Given the description of an element on the screen output the (x, y) to click on. 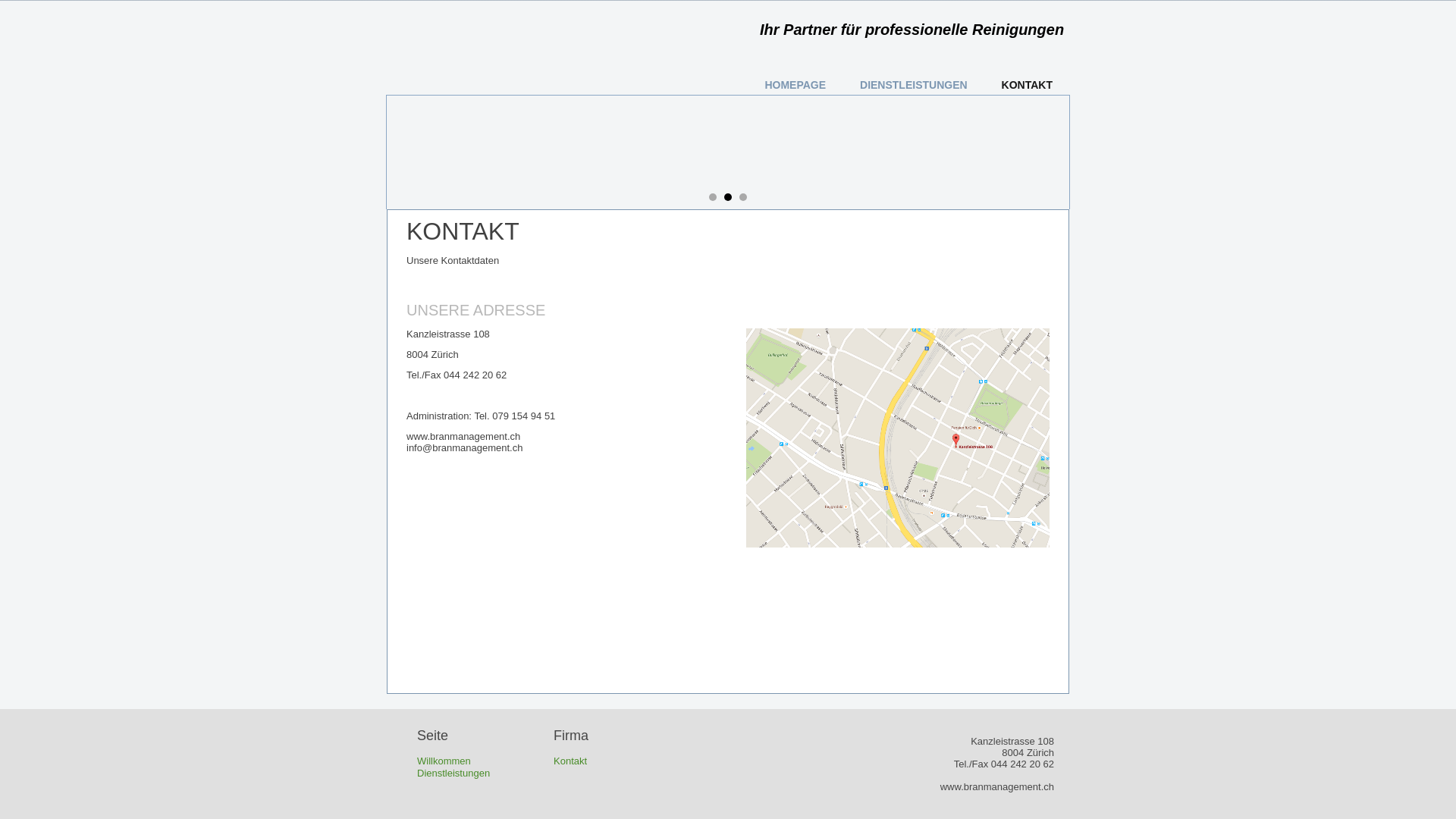
Willkommen Element type: text (443, 760)
Dienstleistungen Element type: text (453, 772)
KONTAKT Element type: text (1027, 84)
DIENSTLEISTUNGEN Element type: text (913, 84)
HOMEPAGE Element type: text (794, 84)
Kontakt Element type: text (569, 760)
